Given the description of an element on the screen output the (x, y) to click on. 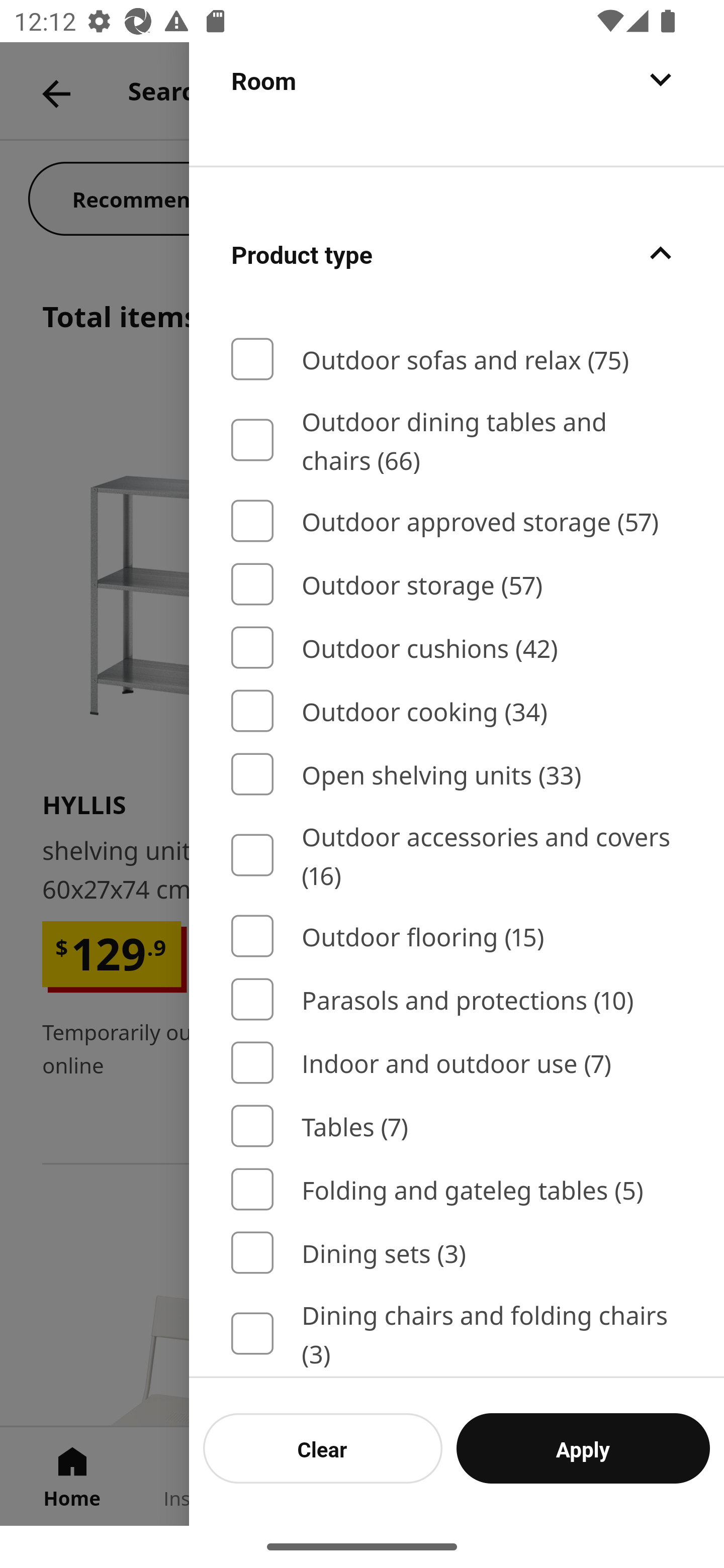
Room (456, 102)
Product type (456, 253)
Outdoor sofas and relax (75) (456, 358)
Outdoor dining tables and chairs (66) (456, 439)
Outdoor approved storage (57) (456, 521)
Outdoor storage (57) (456, 583)
Outdoor cushions (42) (456, 646)
Outdoor cooking (34) (456, 710)
Open shelving units (33) (456, 773)
Outdoor accessories and covers (16) (456, 854)
Outdoor flooring (15) (456, 935)
